Given the description of an element on the screen output the (x, y) to click on. 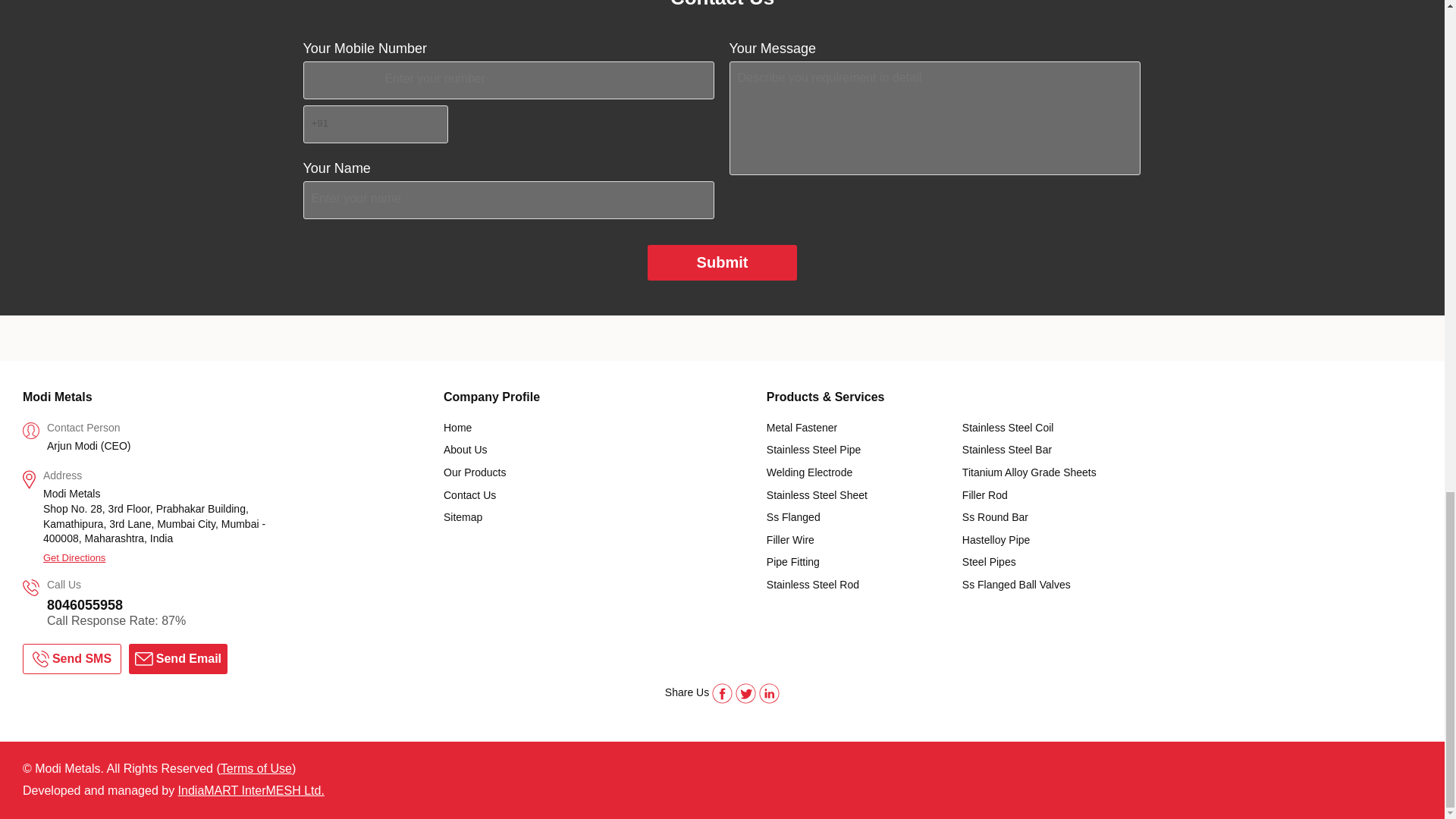
Submit (722, 262)
